Given the description of an element on the screen output the (x, y) to click on. 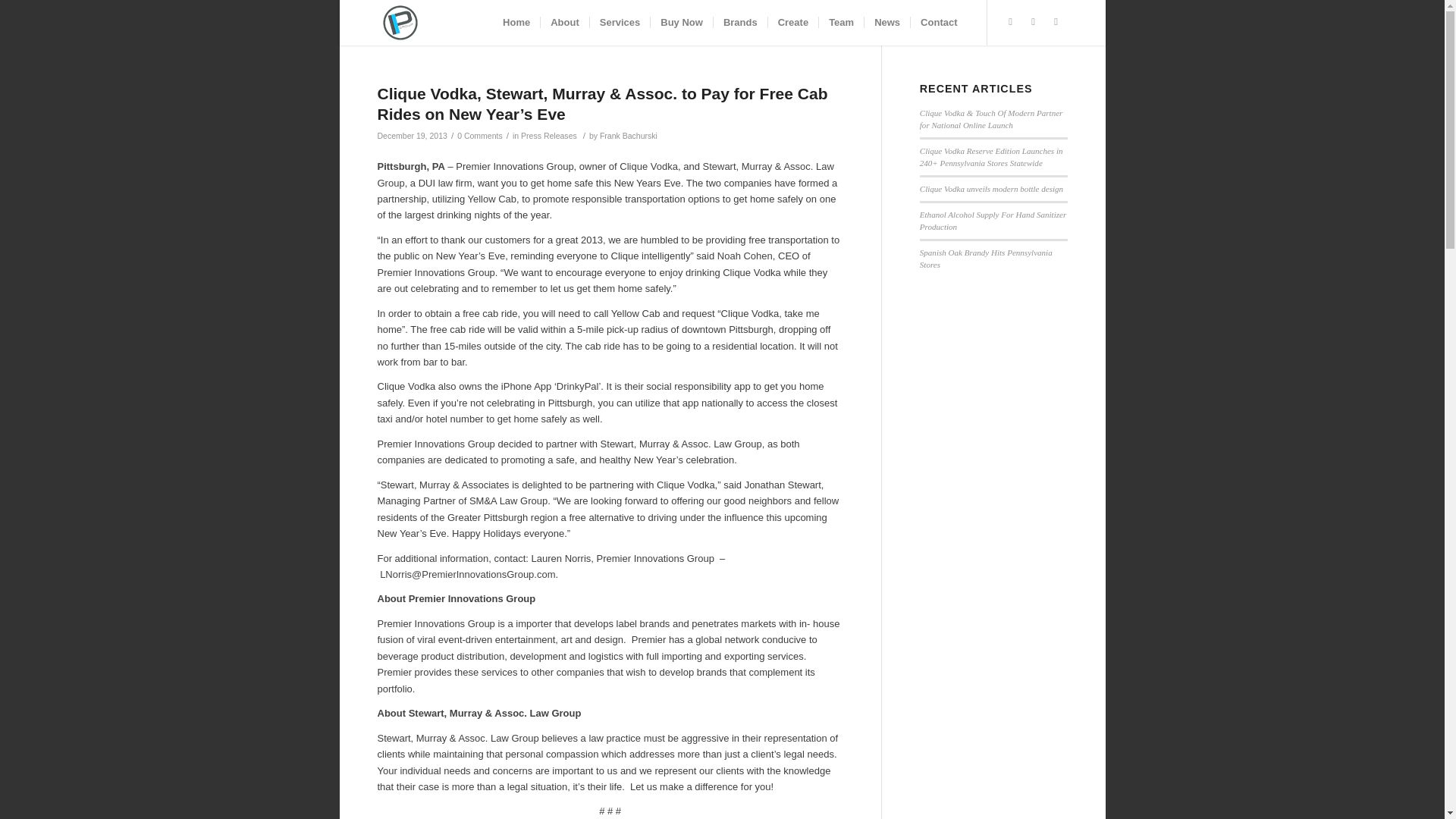
Buy Now (681, 22)
Services (619, 22)
Posts by Frank Bachurski (628, 135)
About (564, 22)
Home (516, 22)
